Given the description of an element on the screen output the (x, y) to click on. 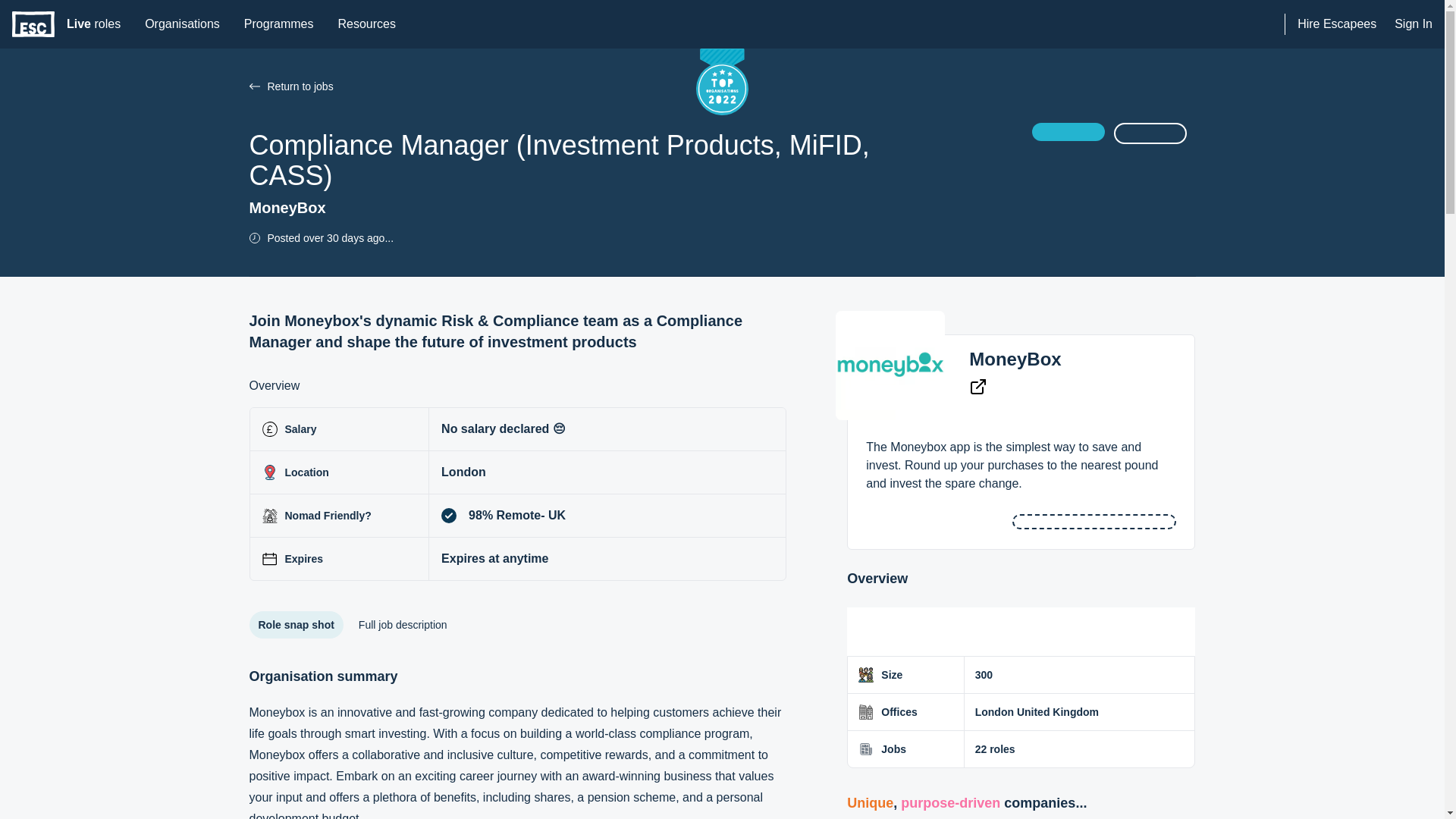
Hire Escapees (1336, 24)
Return to jobs (253, 86)
Escape the City (33, 24)
MoneyBox (1015, 358)
Resources (365, 24)
Programmes (93, 24)
Organisations (278, 24)
Return to jobs (181, 24)
